Given the description of an element on the screen output the (x, y) to click on. 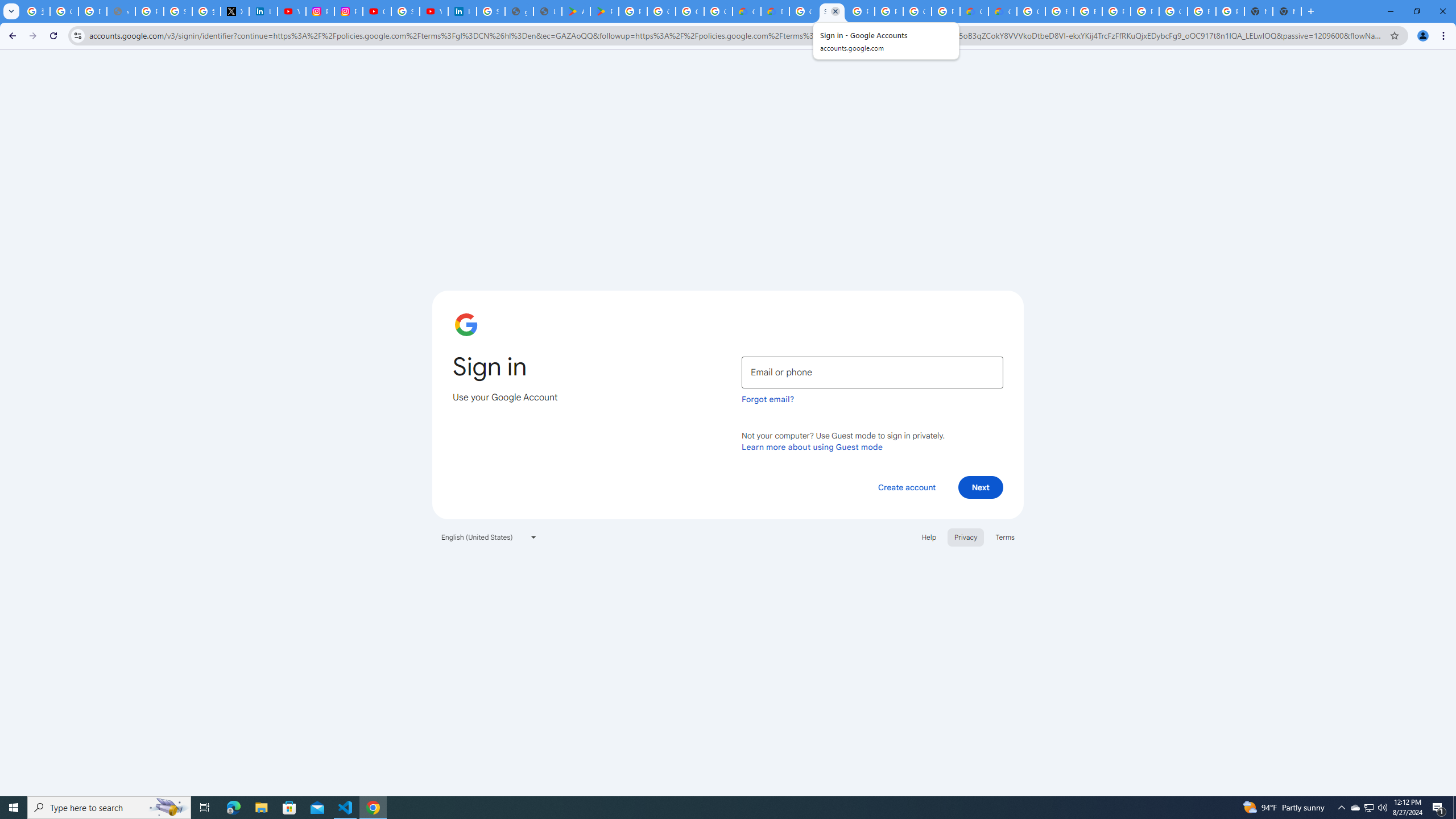
English (United States) (489, 536)
Privacy Help Center - Policies Help (148, 11)
Browse Chrome as a guest - Computer - Google Chrome Help (1058, 11)
Learn more about using Guest mode (812, 446)
X (234, 11)
YouTube Content Monetization Policies - How YouTube Works (291, 11)
Google Cloud Estimate Summary (1002, 11)
Google Cloud Platform (1030, 11)
Sign in - Google Accounts (405, 11)
